Given the description of an element on the screen output the (x, y) to click on. 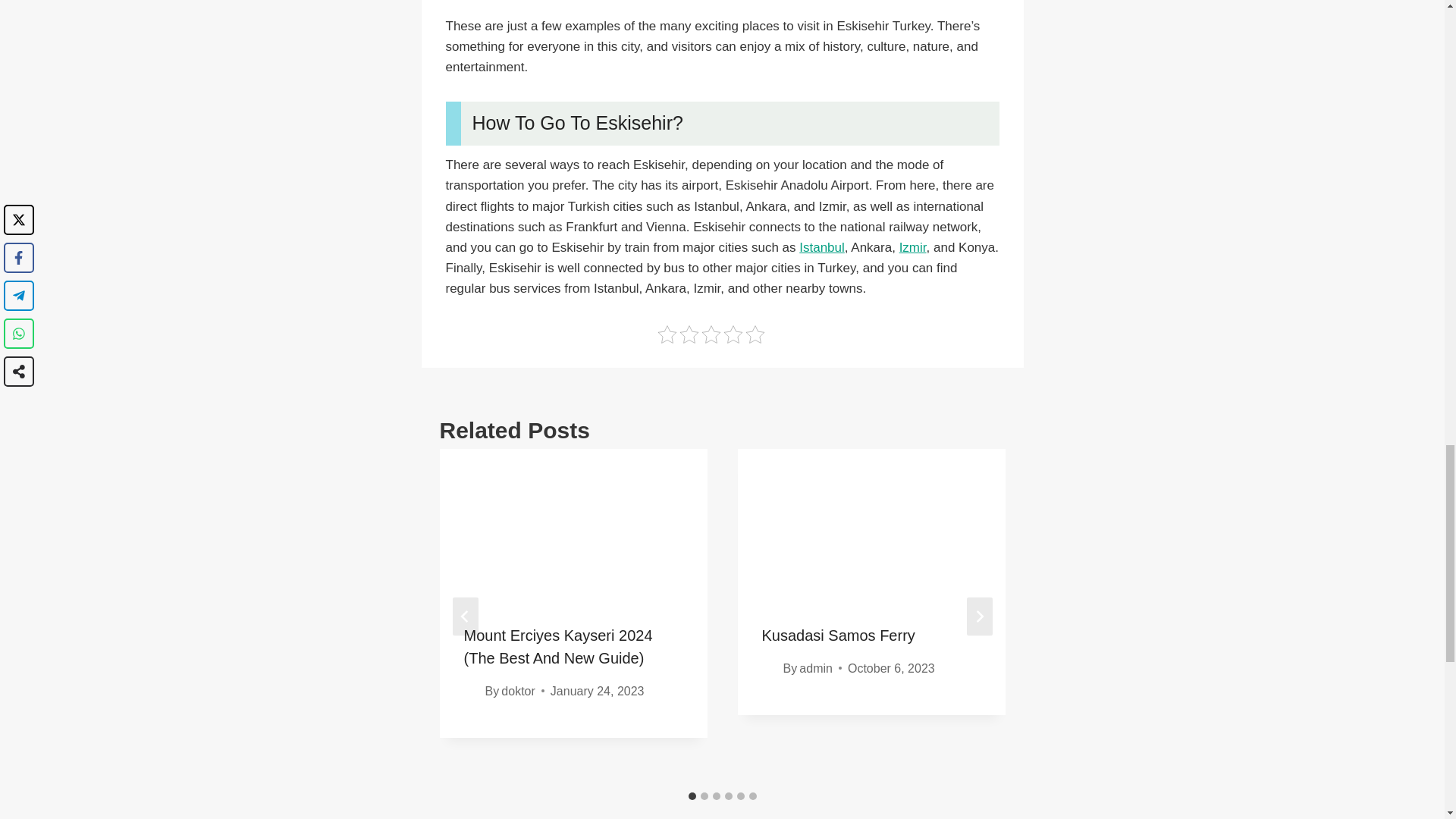
Kusadasi Samos Ferry (837, 635)
doktor (517, 690)
Istanbul (821, 247)
admin (815, 667)
Izmir (912, 247)
